Given the description of an element on the screen output the (x, y) to click on. 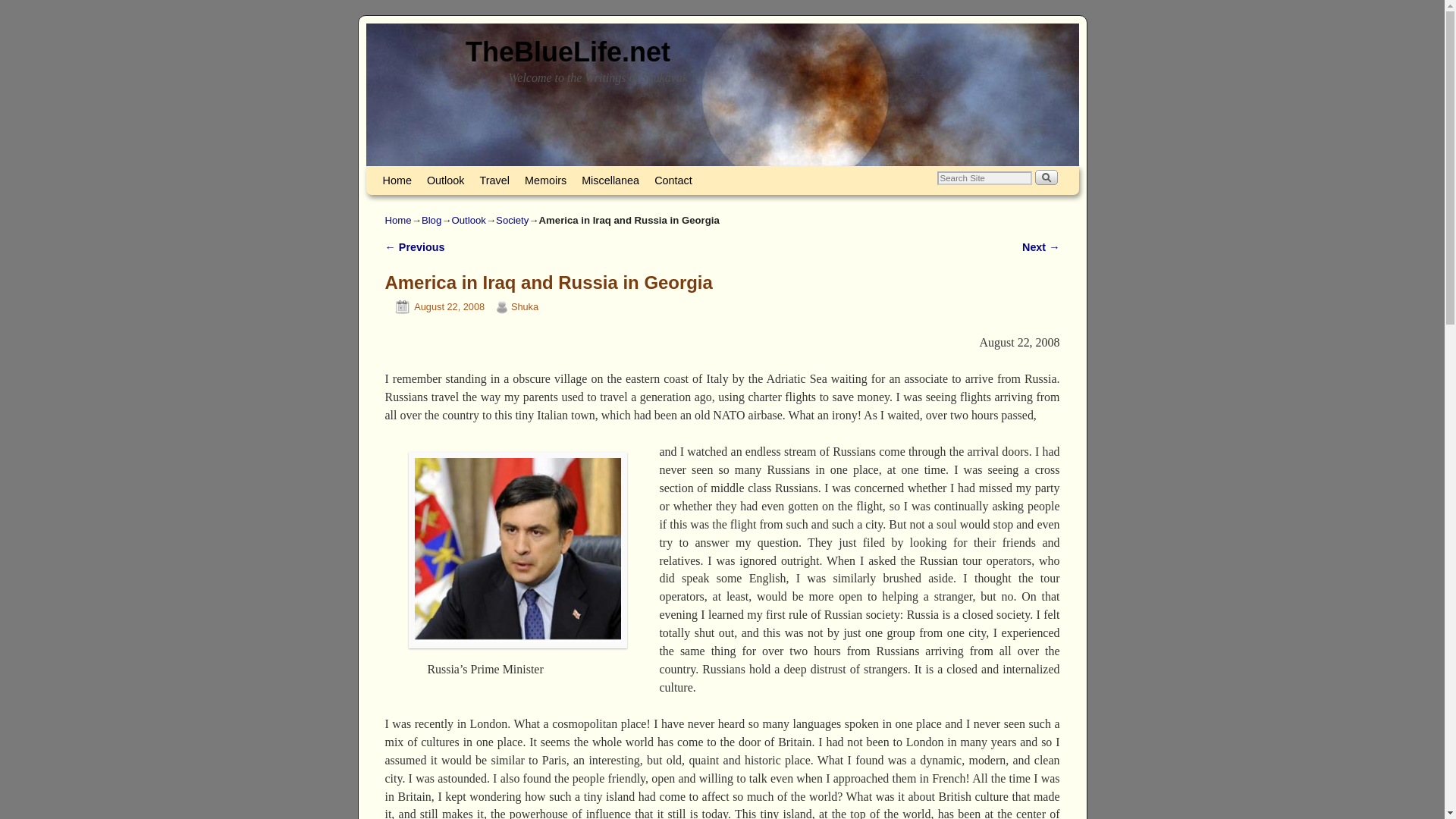
August 22, 2008 (434, 306)
Society (512, 220)
10:17 AM (434, 306)
TheBlueLife.net (567, 51)
Outlook (467, 220)
Contact (673, 180)
Georgia (518, 550)
Home (396, 180)
Skip to secondary content (412, 172)
Skip to primary content (408, 172)
